Given the description of an element on the screen output the (x, y) to click on. 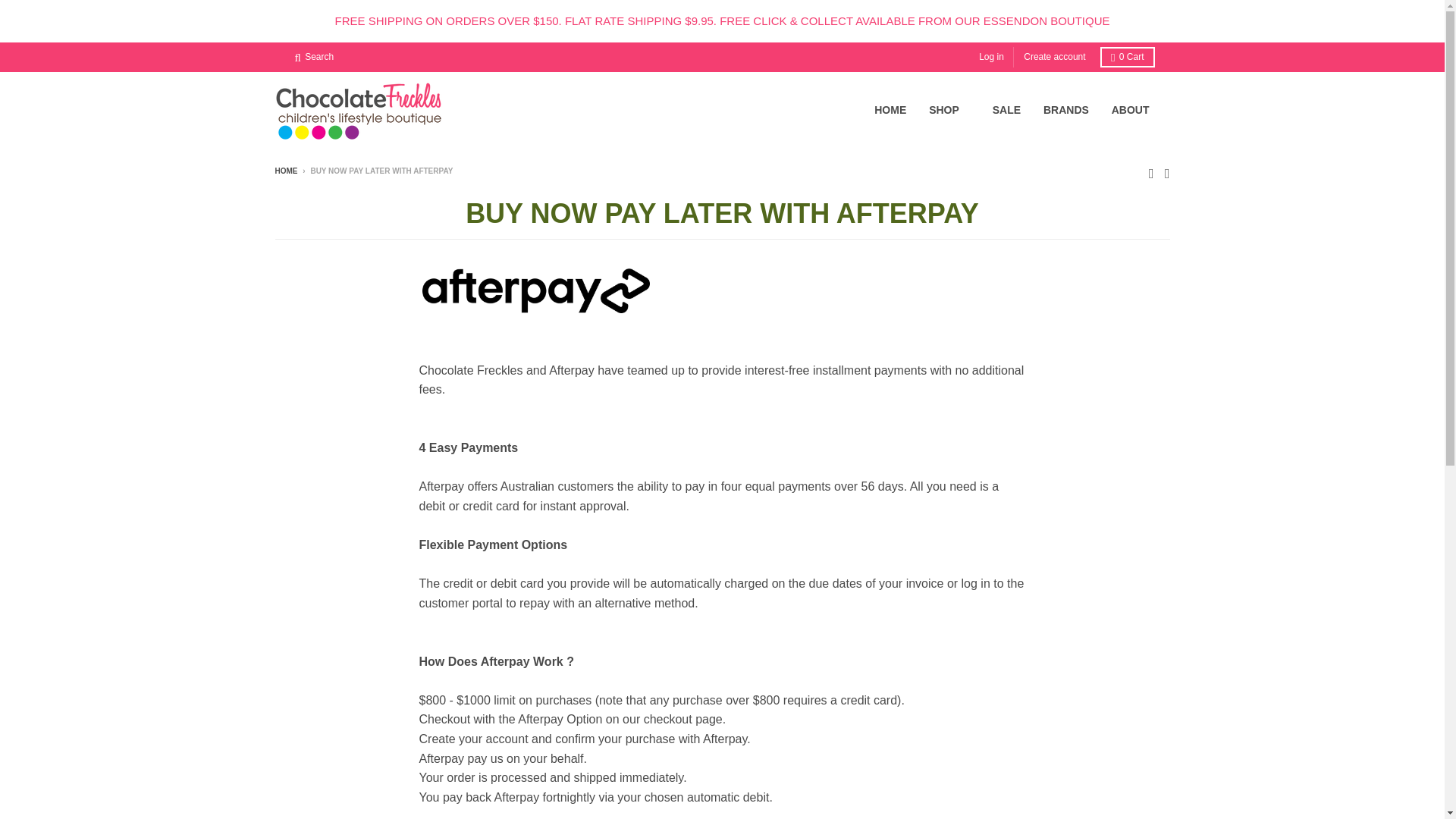
Search (313, 56)
SHOP (948, 109)
Back to the frontpage (286, 171)
Log in (991, 56)
0 Cart (1127, 56)
HOME (889, 109)
Create account (1054, 56)
